Given the description of an element on the screen output the (x, y) to click on. 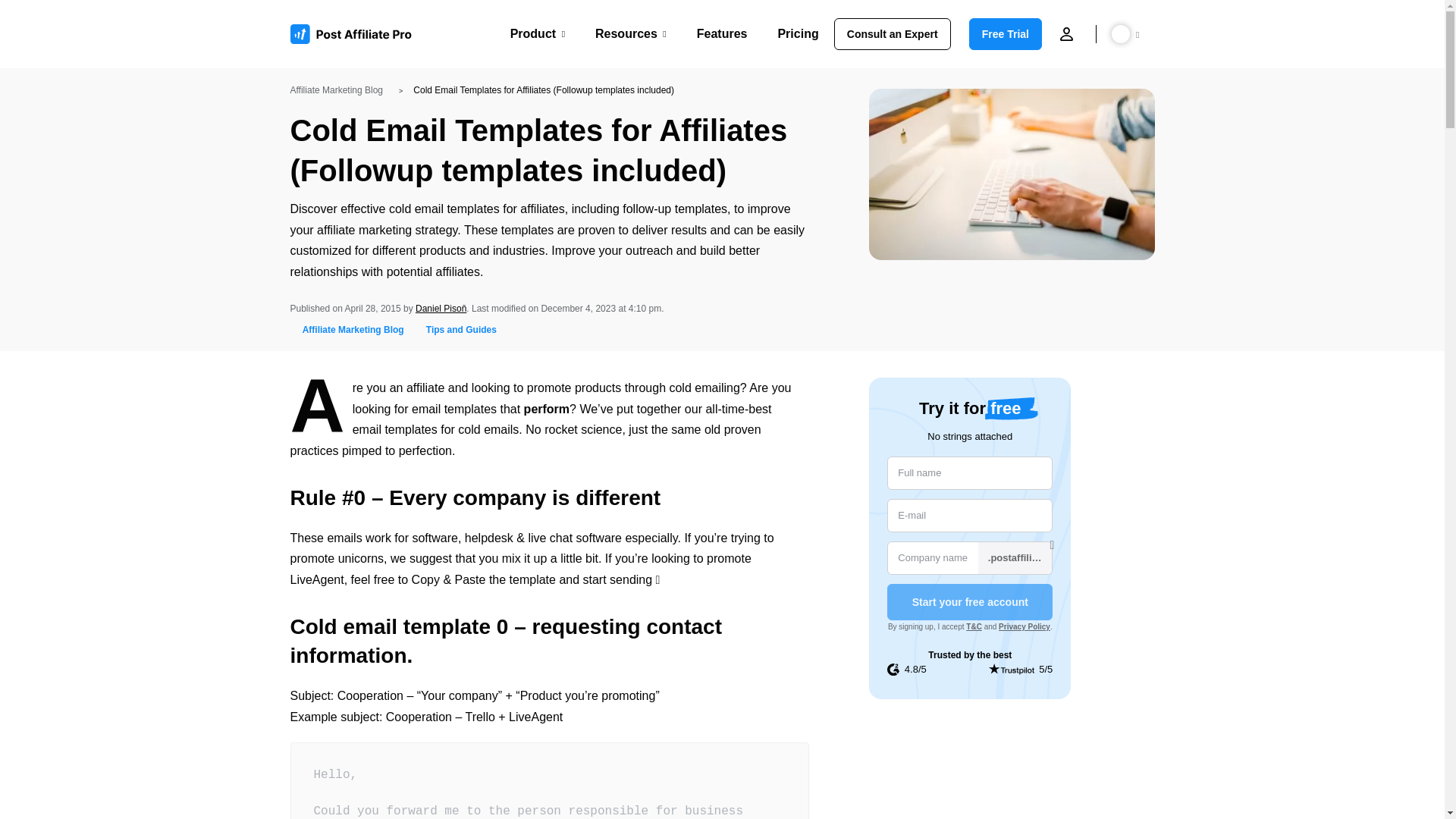
Pricing (797, 33)
Product (537, 33)
Resources (630, 33)
Features (722, 33)
PostAffiliatePro affiliate software (355, 34)
